Given the description of an element on the screen output the (x, y) to click on. 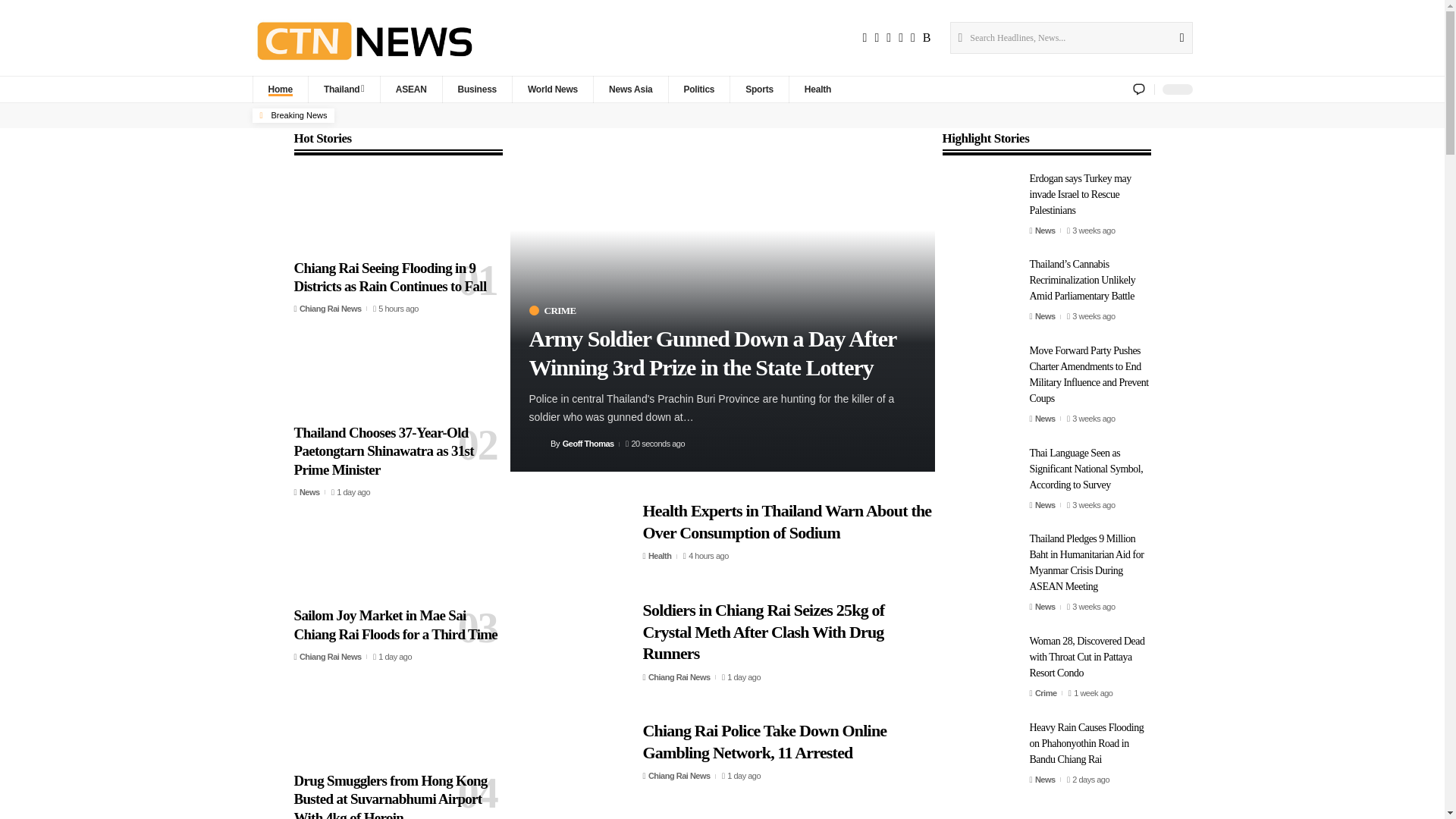
Business (477, 89)
Home (279, 89)
Erdogan says Turkey may invade Israel to Rescue Palestinians (979, 204)
Health (817, 89)
Politics (697, 89)
Thailand (343, 89)
World News (552, 89)
